Given the description of an element on the screen output the (x, y) to click on. 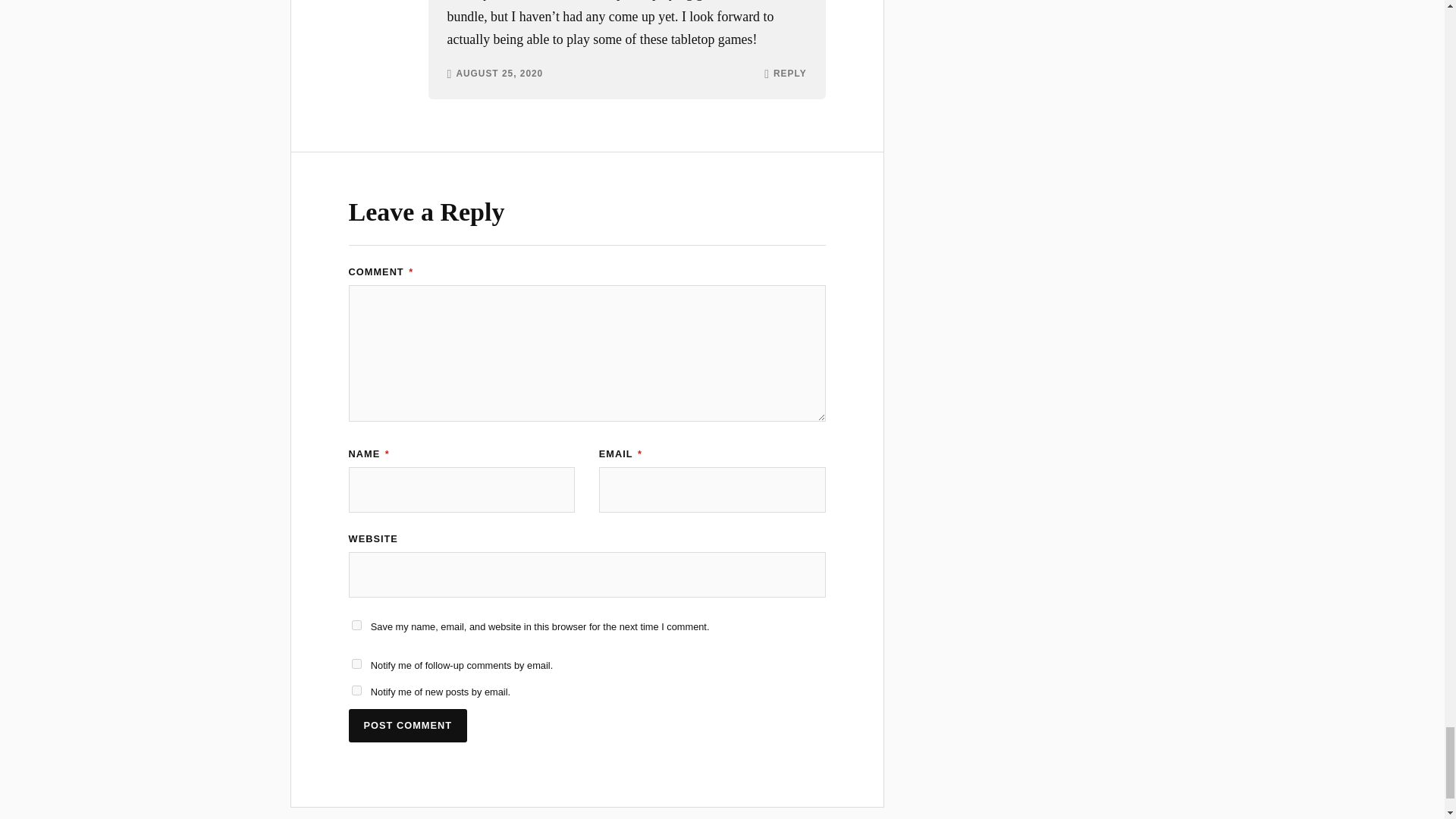
Post Comment (408, 725)
subscribe (356, 664)
yes (356, 624)
subscribe (356, 690)
